Given the description of an element on the screen output the (x, y) to click on. 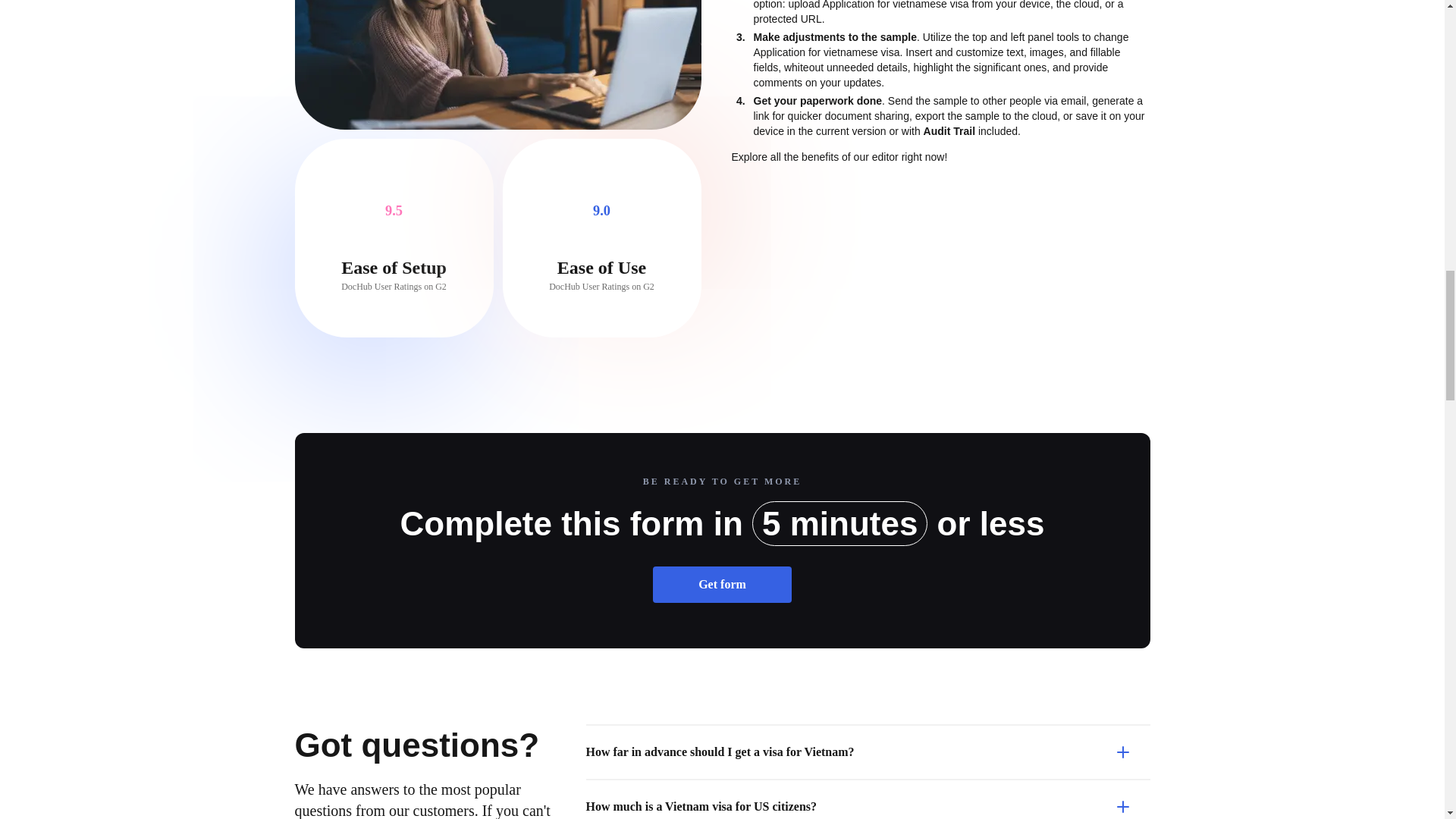
Get form (722, 584)
9.5 (394, 211)
9.0 (601, 211)
